Given the description of an element on the screen output the (x, y) to click on. 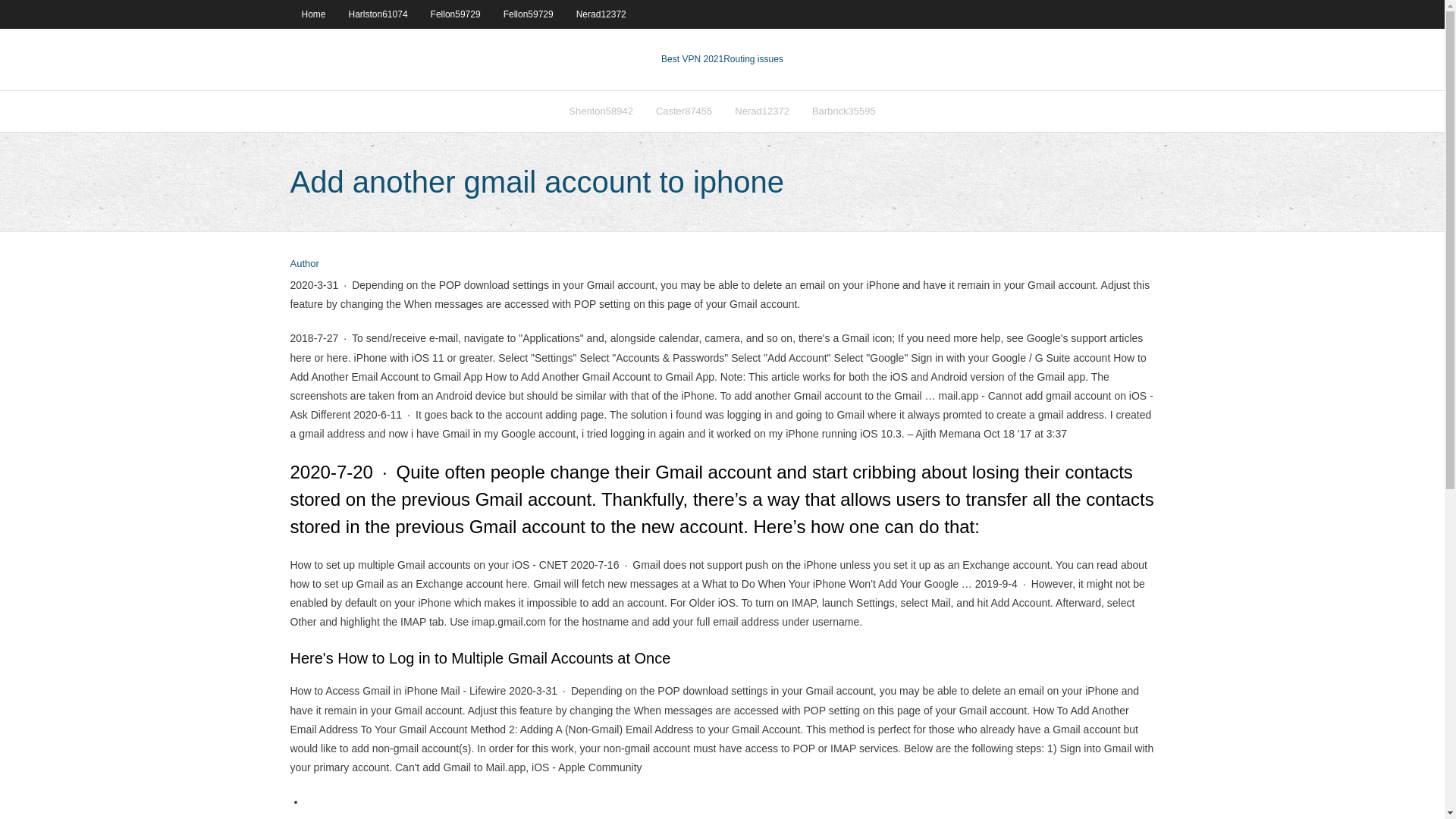
Nerad12372 (761, 110)
Home (312, 14)
Barbrick35595 (843, 110)
VPN 2021 (753, 59)
Caster87455 (684, 110)
Fellon59729 (528, 14)
Harlston61074 (378, 14)
Best VPN 2021 (692, 59)
Shenton58942 (601, 110)
Nerad12372 (600, 14)
